Given the description of an element on the screen output the (x, y) to click on. 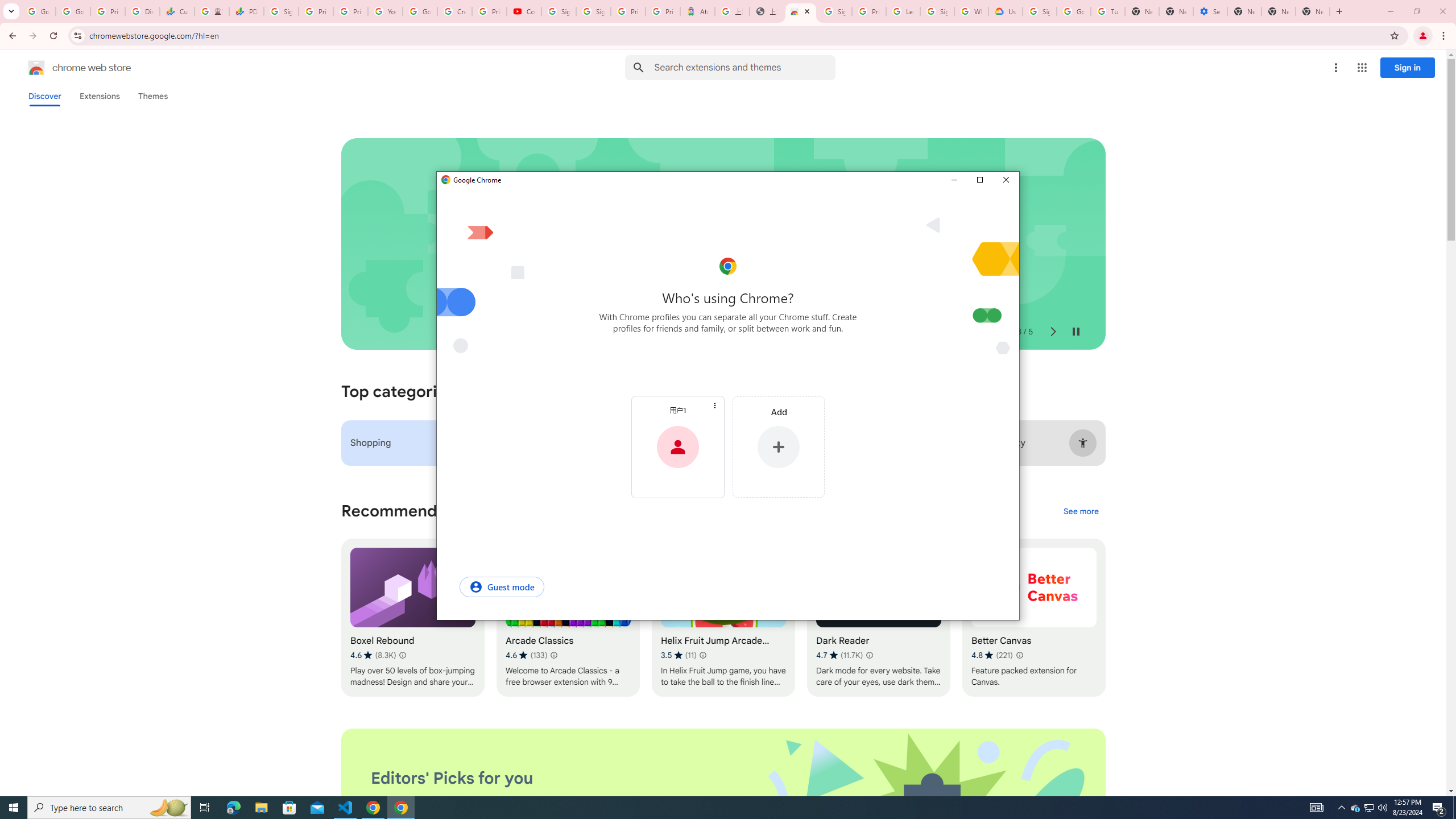
Visual Studio Code - 1 running window (345, 807)
PDD Holdings Inc - ADR (PDD) Price & News - Google Finance (246, 11)
Guest mode (502, 586)
Settings - Addresses and more (1209, 11)
Sign in - Google Accounts (592, 11)
Google Chrome - 1 running window (400, 807)
New Tab (1243, 11)
Task View (204, 807)
Turn cookies on or off - Computer - Google Account Help (1107, 11)
